Given the description of an element on the screen output the (x, y) to click on. 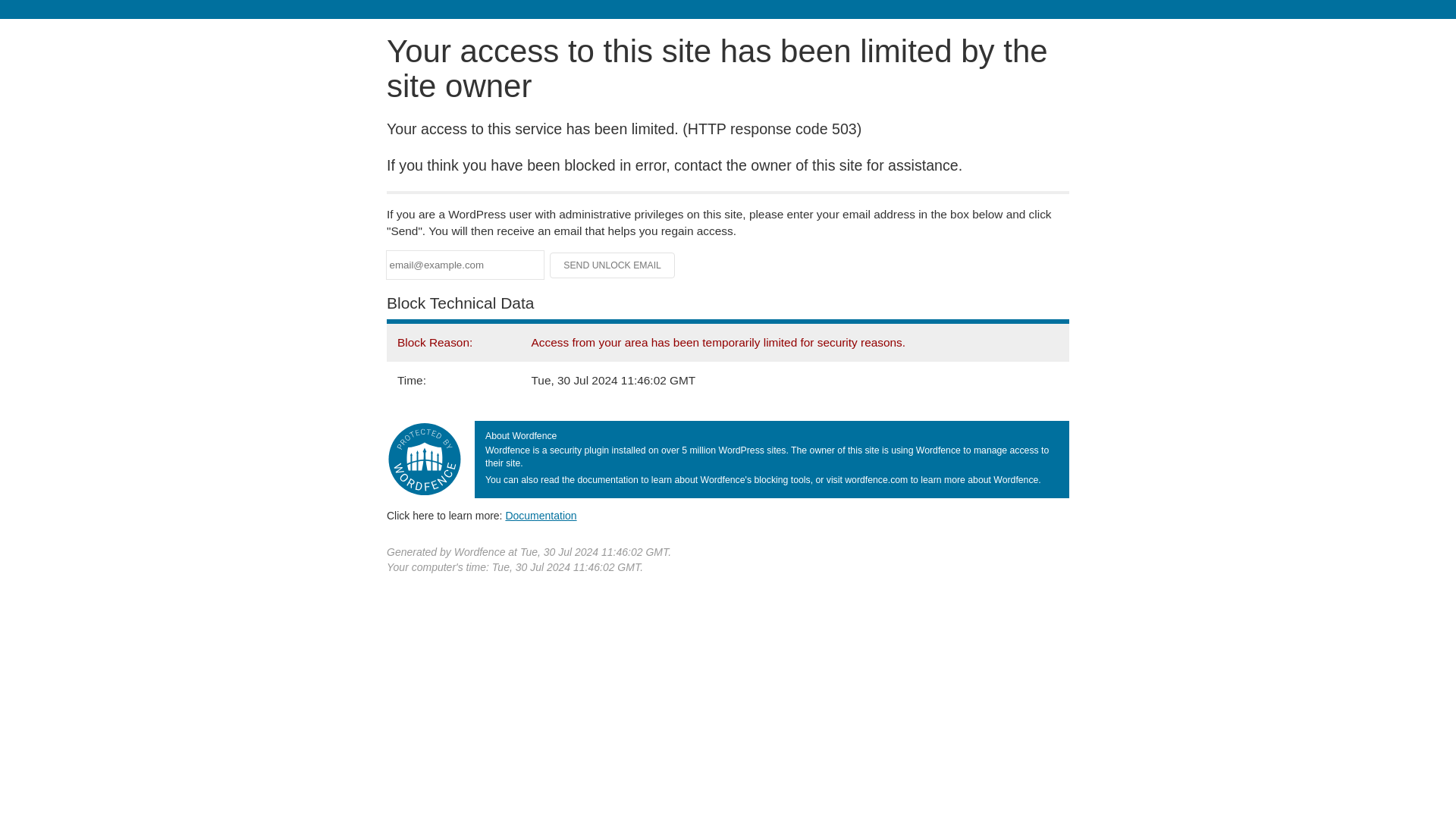
Documentation (540, 515)
Send Unlock Email (612, 265)
Send Unlock Email (612, 265)
